Given the description of an element on the screen output the (x, y) to click on. 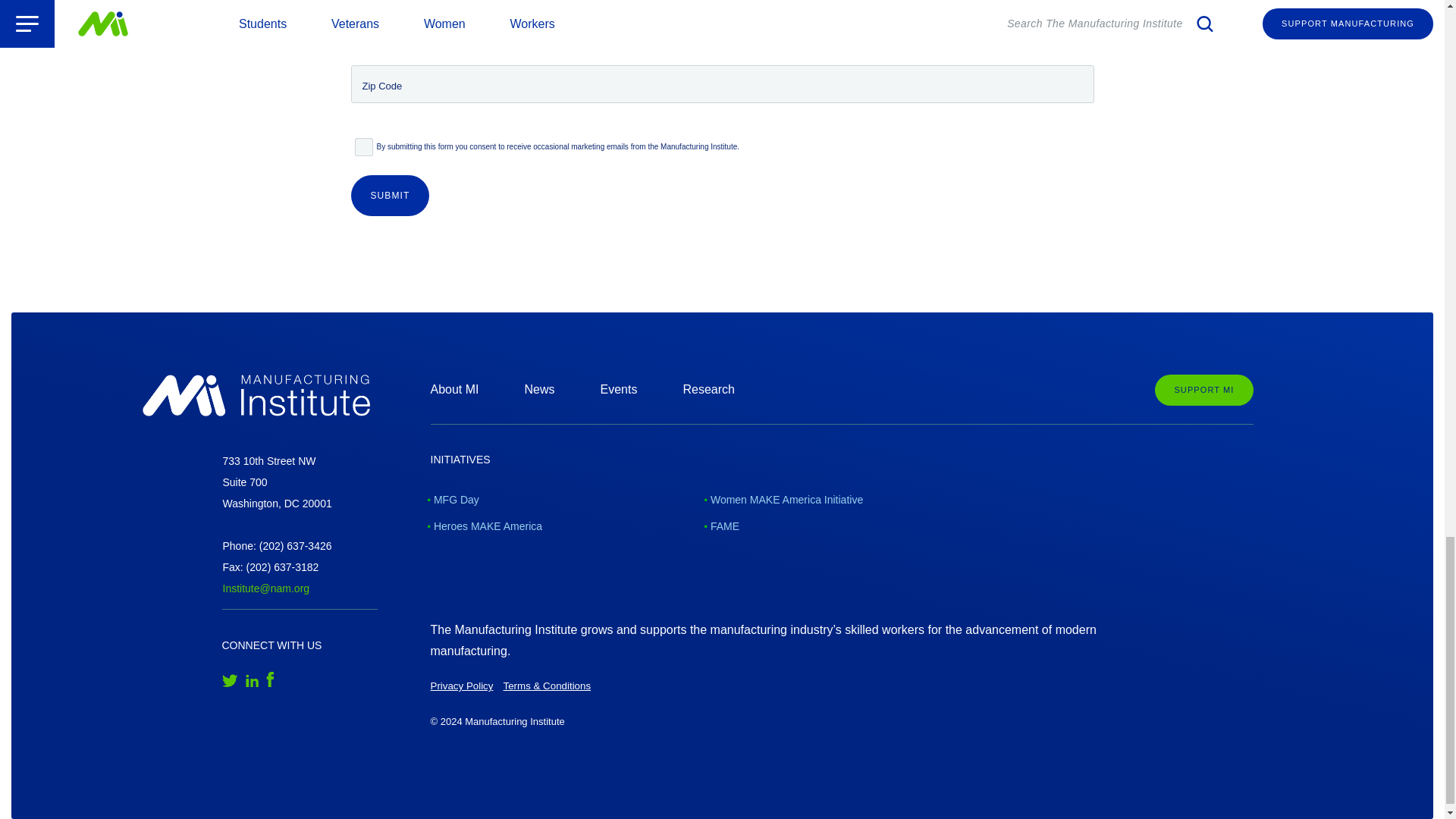
Women MAKE America Initiative (784, 499)
Research (707, 389)
Follow Us on Twitter (229, 678)
SUPPORT MI (1203, 389)
FAME (722, 526)
News (539, 389)
MFG Day (454, 499)
SUBMIT (389, 195)
Events (618, 389)
Privacy Policy (461, 685)
Heroes MAKE America (486, 526)
About MI (454, 389)
